Given the description of an element on the screen output the (x, y) to click on. 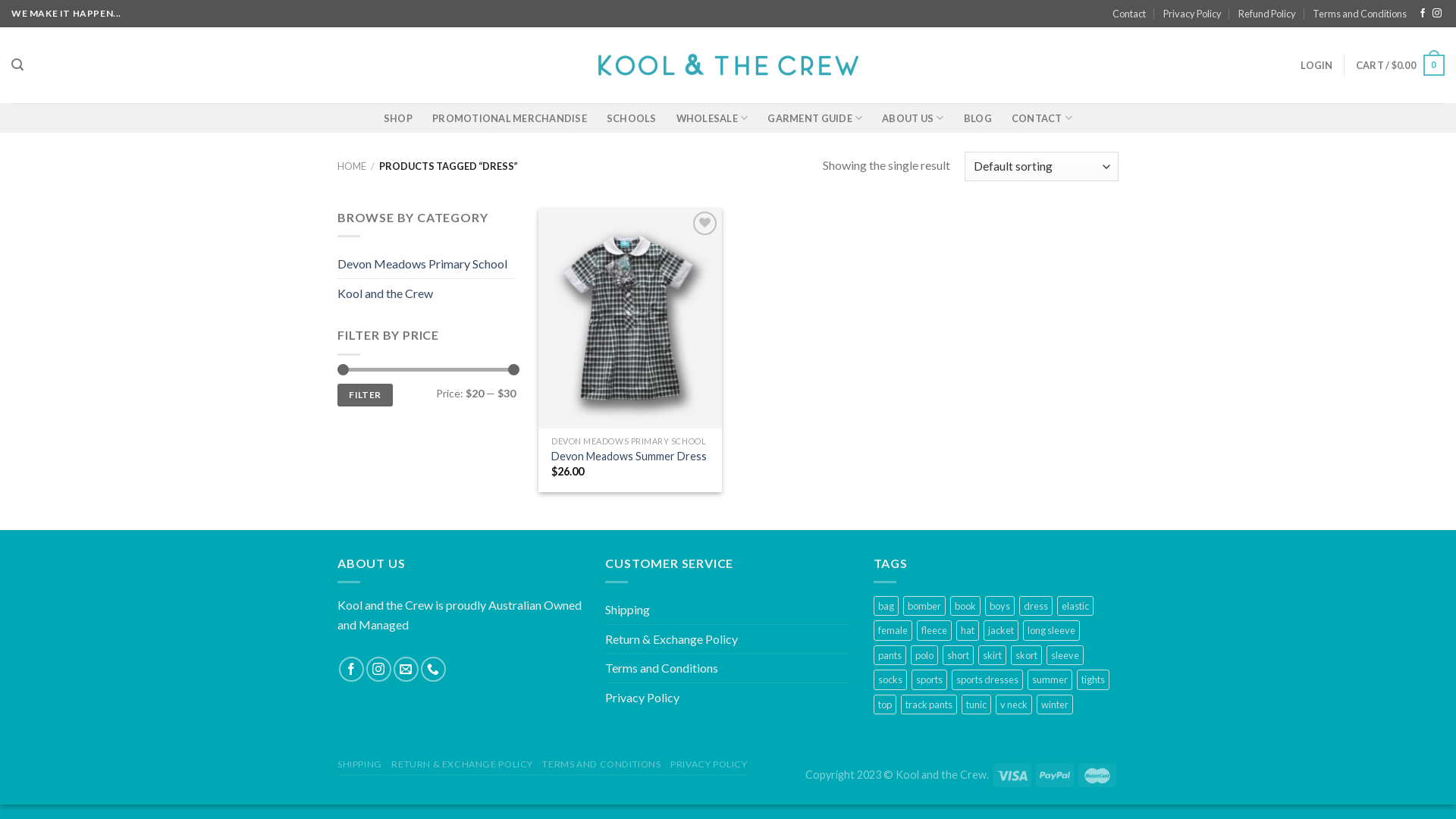
SCHOOLS Element type: text (631, 117)
Contact Element type: text (1128, 13)
track pants Element type: text (928, 704)
SHOP Element type: text (397, 117)
hat Element type: text (967, 630)
bag Element type: text (885, 605)
Follow on Facebook Element type: hover (351, 668)
sports Element type: text (929, 679)
book Element type: text (965, 605)
Terms and Conditions Element type: text (1359, 13)
TERMS AND CONDITIONS Element type: text (601, 763)
tights Element type: text (1092, 679)
Privacy Policy Element type: text (1192, 13)
PROMOTIONAL MERCHANDISE Element type: text (509, 117)
pants Element type: text (889, 655)
PRIVACY POLICY Element type: text (708, 763)
SHIPPING Element type: text (359, 763)
Devon Meadows Summer Dress Element type: text (628, 456)
short Element type: text (957, 655)
Kool and the Crew Element type: hover (728, 64)
top Element type: text (884, 704)
Privacy Policy Element type: text (642, 697)
bomber Element type: text (924, 605)
boys Element type: text (999, 605)
Refund Policy Element type: text (1266, 13)
BLOG Element type: text (977, 117)
jacket Element type: text (1000, 630)
Follow on Instagram Element type: hover (1436, 13)
elastic Element type: text (1075, 605)
CONTACT Element type: text (1041, 117)
skort Element type: text (1025, 655)
GARMENT GUIDE Element type: text (814, 117)
Send us an email Element type: hover (405, 668)
Call us Element type: hover (432, 668)
female Element type: text (892, 630)
CART / $0.00
0 Element type: text (1399, 64)
fleece Element type: text (933, 630)
Follow on Instagram Element type: hover (378, 668)
summer Element type: text (1049, 679)
socks Element type: text (889, 679)
Shipping Element type: text (627, 609)
FILTER Element type: text (364, 395)
tunic Element type: text (976, 704)
skirt Element type: text (992, 655)
WHOLESALE Element type: text (712, 117)
sports dresses Element type: text (986, 679)
dress Element type: text (1035, 605)
HOME Element type: text (351, 166)
Devon Meadows Primary School Element type: text (426, 263)
long sleeve Element type: text (1050, 630)
Return & Exchange Policy Element type: text (671, 638)
polo Element type: text (924, 655)
RETURN & EXCHANGE POLICY Element type: text (462, 763)
winter Element type: text (1054, 704)
LOGIN Element type: text (1316, 64)
v neck Element type: text (1013, 704)
ABOUT US Element type: text (912, 117)
Terms and Conditions Element type: text (661, 667)
sleeve Element type: text (1064, 655)
Kool and the Crew Element type: text (426, 293)
Follow on Facebook Element type: hover (1422, 13)
